Given the description of an element on the screen output the (x, y) to click on. 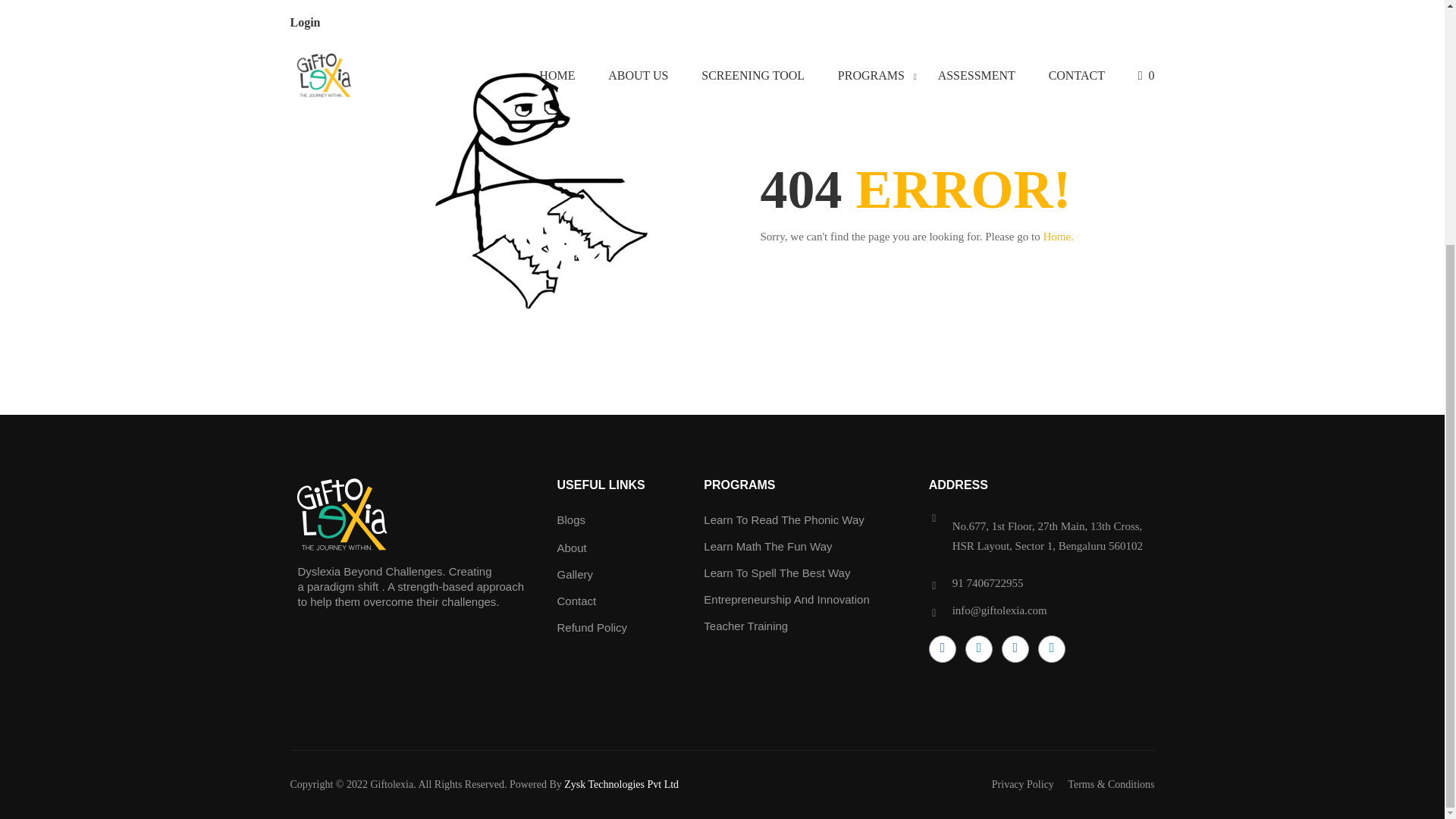
Contact (575, 600)
Learn Math The Fun Way (767, 545)
About (571, 547)
91 7406722955 (987, 582)
Entrepreneurship And Innovation (786, 599)
Refund Policy (591, 626)
Teacher Training (745, 625)
Blogs (570, 519)
Learn To Read The Phonic Way (783, 519)
Home. (1057, 236)
Gallery (574, 574)
Learn To Spell The Best Way (776, 572)
